Given the description of an element on the screen output the (x, y) to click on. 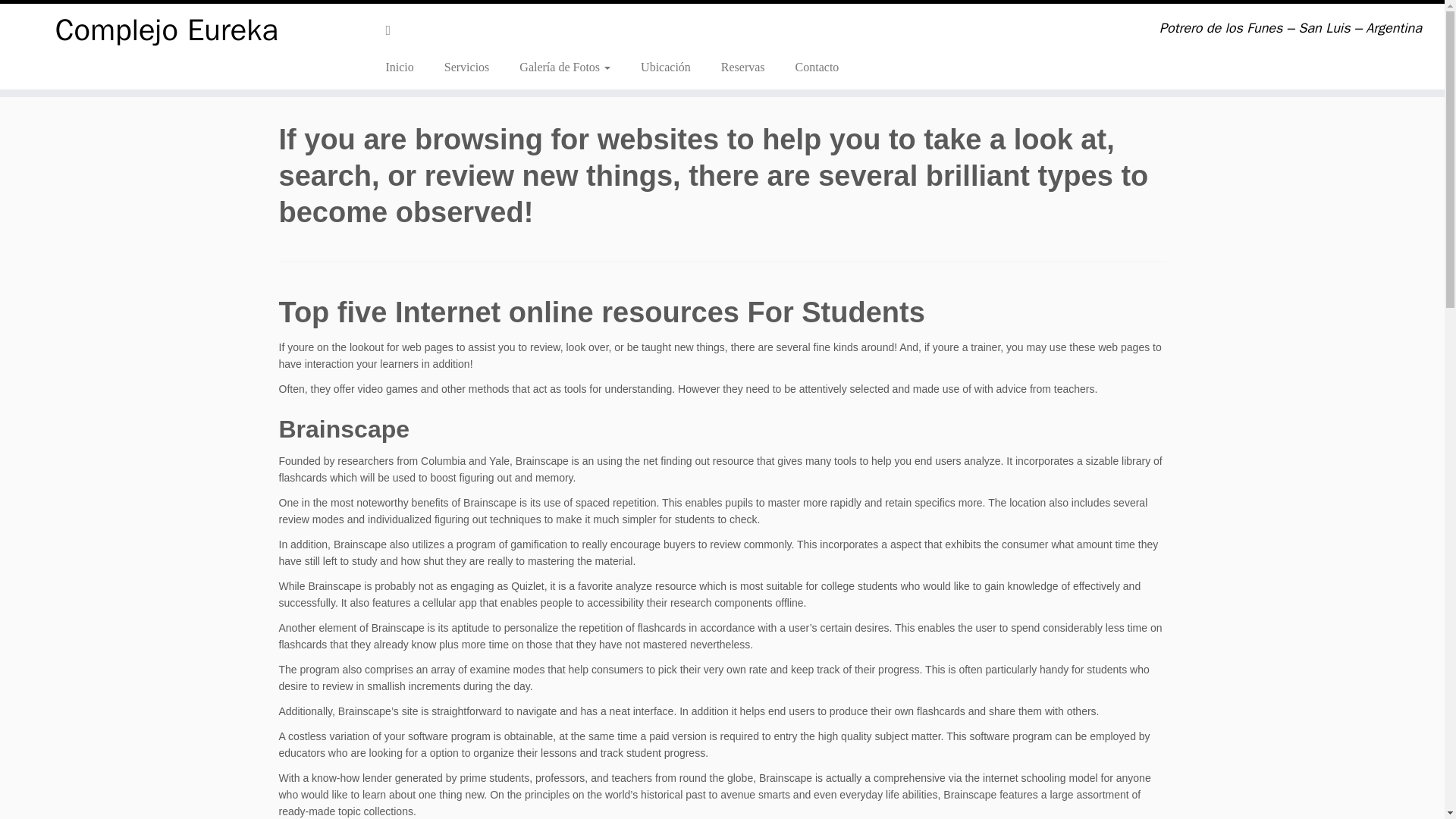
Reservas (743, 67)
Inicio (404, 67)
Complejo Eureka (166, 30)
Seguirme en Facebook (392, 29)
Contacto (810, 67)
Servicios (467, 67)
